Given the description of an element on the screen output the (x, y) to click on. 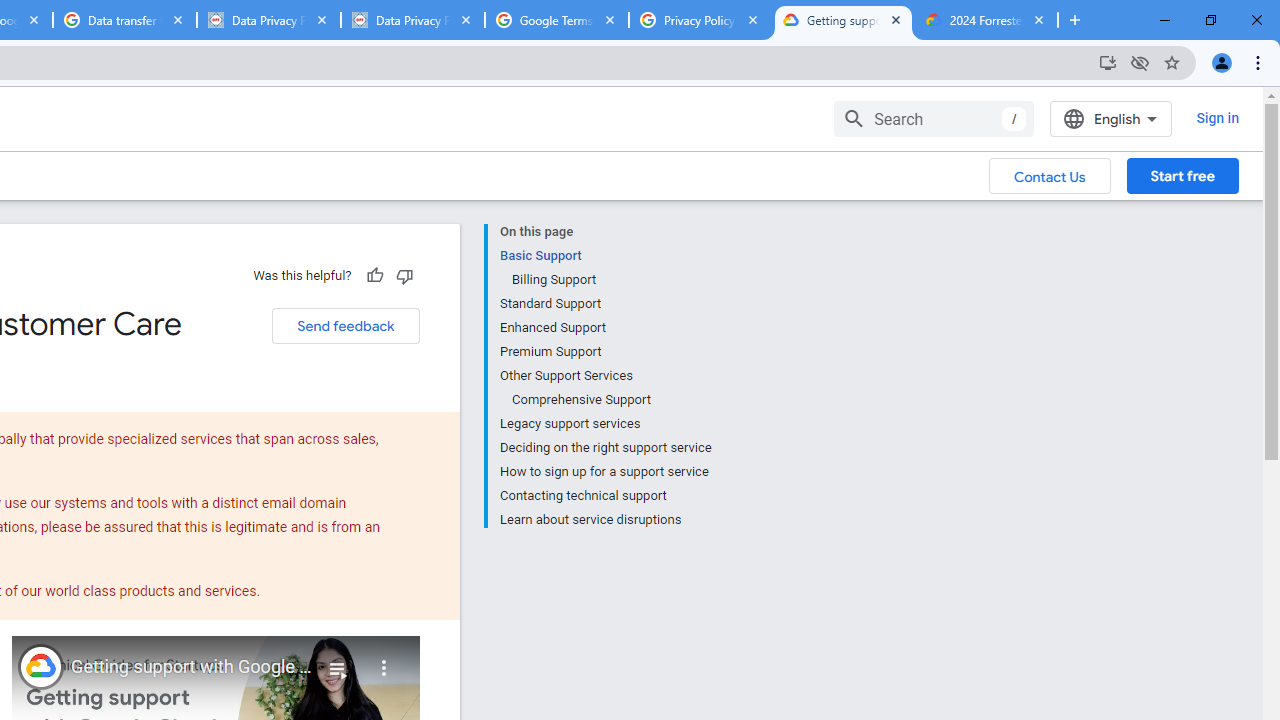
Start free (1182, 175)
Standard Support (605, 304)
Install Google Cloud (1107, 62)
Premium Support (605, 351)
More (384, 660)
Not helpful (404, 275)
How to sign up for a support service (605, 471)
Deciding on the right support service (605, 448)
Legacy support services (605, 423)
